Given the description of an element on the screen output the (x, y) to click on. 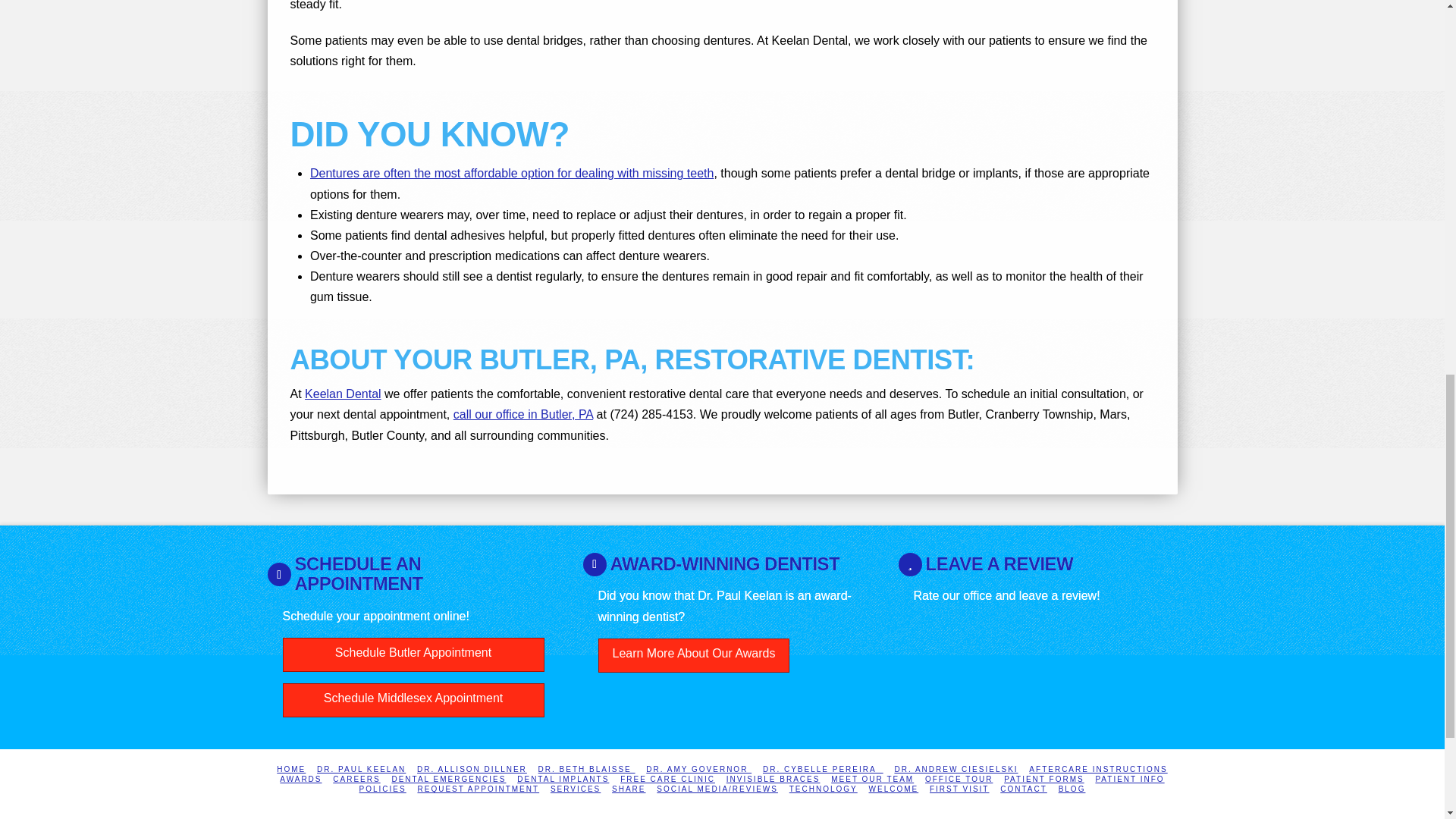
Patient Information (1128, 778)
Social (716, 788)
Post-Operative Care (1098, 768)
Policies (382, 788)
Welcome to our Practice (893, 788)
Dental Implants (562, 778)
Request Appointment (477, 788)
Mobile (628, 788)
Patient Forms (1043, 778)
Emergencies (448, 778)
